Given the description of an element on the screen output the (x, y) to click on. 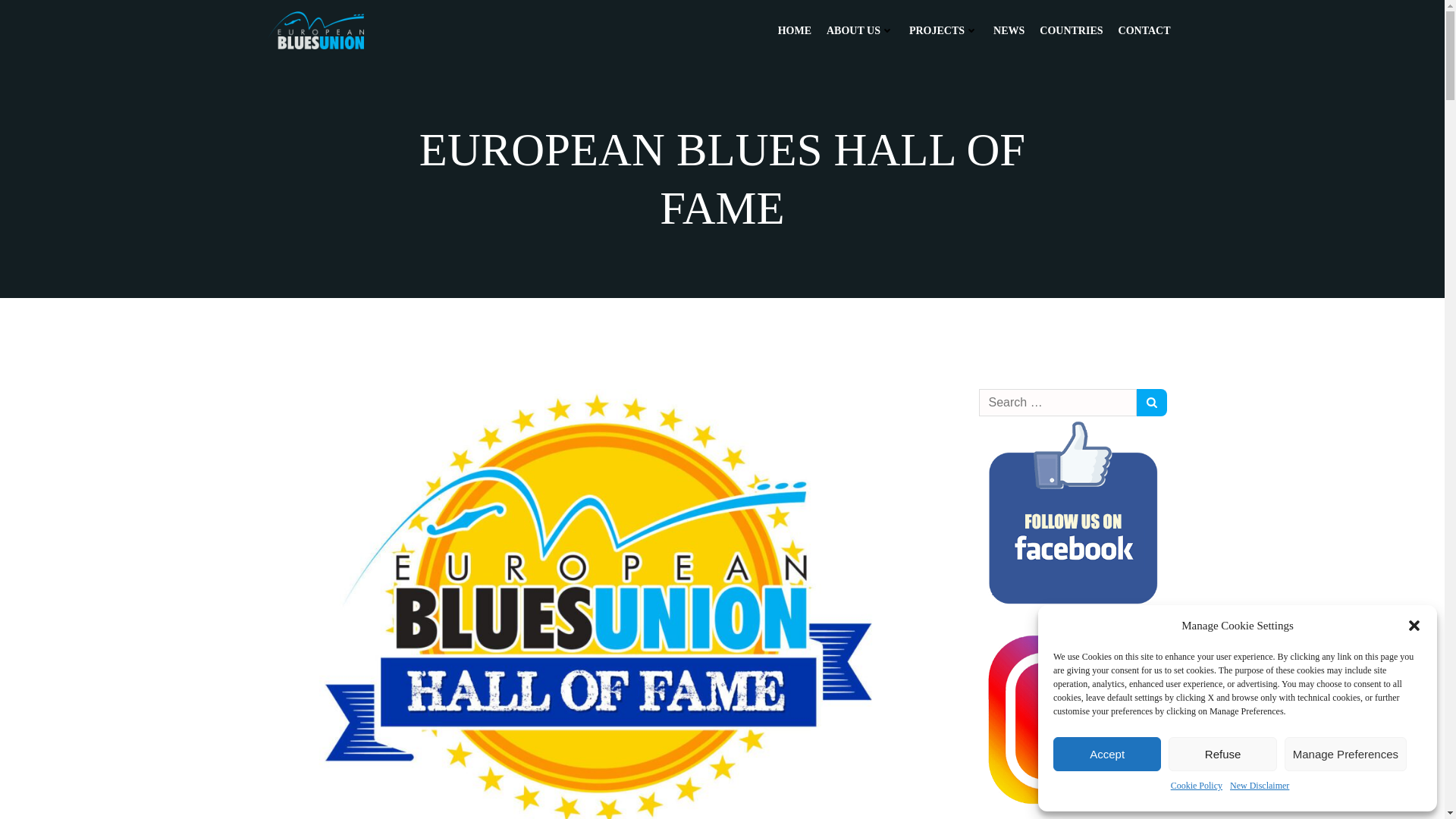
HOME (793, 30)
Accept (1106, 754)
Cookie Policy (1196, 785)
Refuse (1222, 754)
ABOUT US (860, 30)
PROJECTS (943, 30)
New Disclaimer (1259, 785)
Manage Preferences (1345, 754)
